Given the description of an element on the screen output the (x, y) to click on. 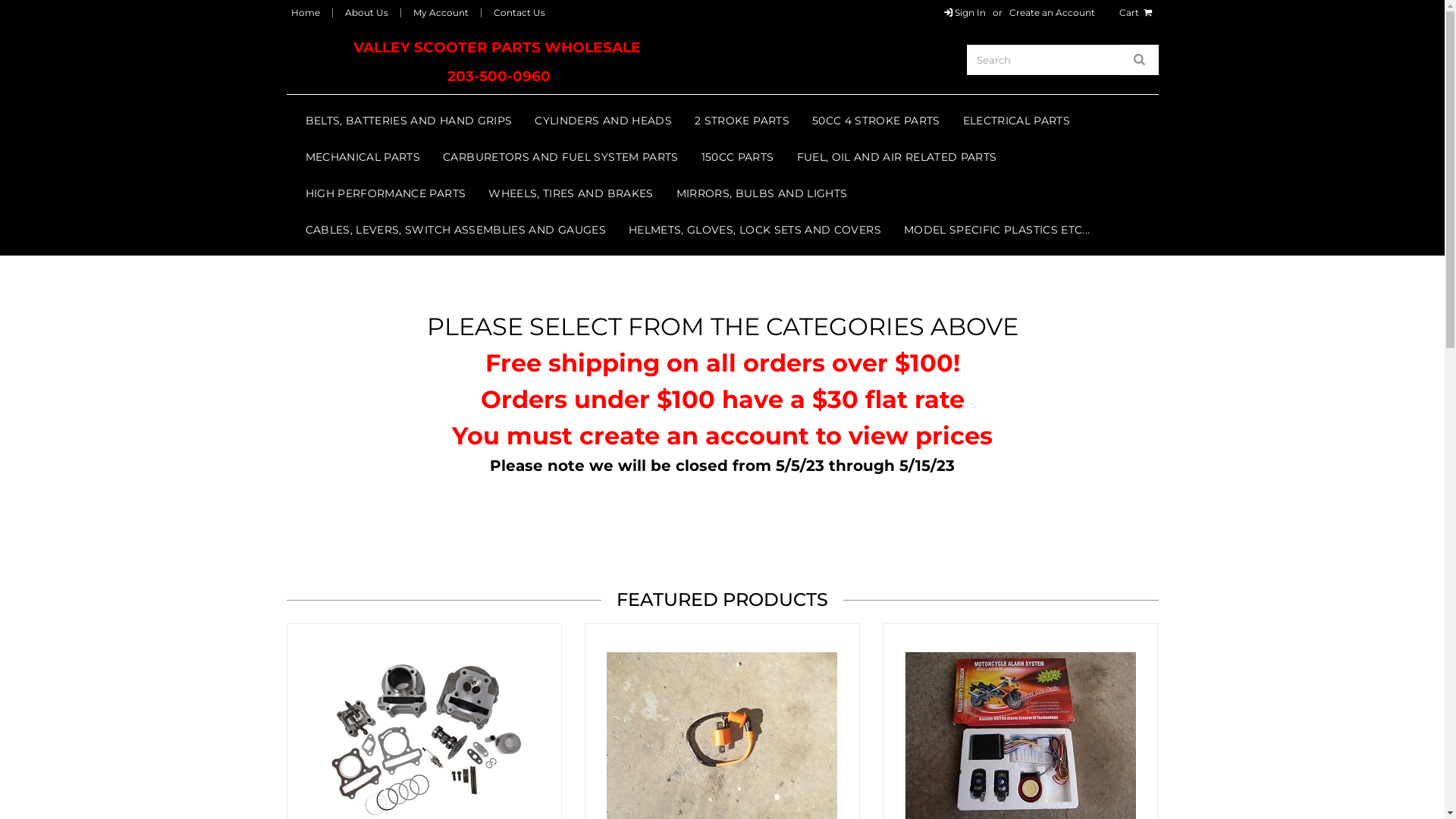
MIRRORS, BULBS AND LIGHTS Element type: text (762, 193)
CABLES, LEVERS, SWITCH ASSEMBLIES AND GAUGES Element type: text (455, 229)
FUEL, OIL AND AIR RELATED PARTS Element type: text (896, 156)
150CC PARTS Element type: text (737, 156)
Cart Element type: text (1136, 12)
CYLINDERS AND HEADS Element type: text (603, 120)
Home Element type: text (305, 12)
2 STROKE PARTS Element type: text (741, 120)
CARBURETORS AND FUEL SYSTEM PARTS Element type: text (560, 156)
Create an Account Element type: text (1051, 12)
ELECTRICAL PARTS Element type: text (1016, 120)
Contact Us Element type: text (518, 12)
HIGH PERFORMANCE PARTS Element type: text (385, 193)
About Us Element type: text (365, 12)
My Account Element type: text (439, 12)
HELMETS, GLOVES, LOCK SETS AND COVERS Element type: text (754, 229)
WHEELS, TIRES AND BRAKES Element type: text (570, 193)
50CC 4 STROKE PARTS Element type: text (875, 120)
Sign In Element type: text (963, 12)
MODEL SPECIFIC PLASTICS ETC... Element type: text (996, 229)
MECHANICAL PARTS Element type: text (363, 156)
BELTS, BATTERIES AND HAND GRIPS Element type: text (409, 120)
